Given the description of an element on the screen output the (x, y) to click on. 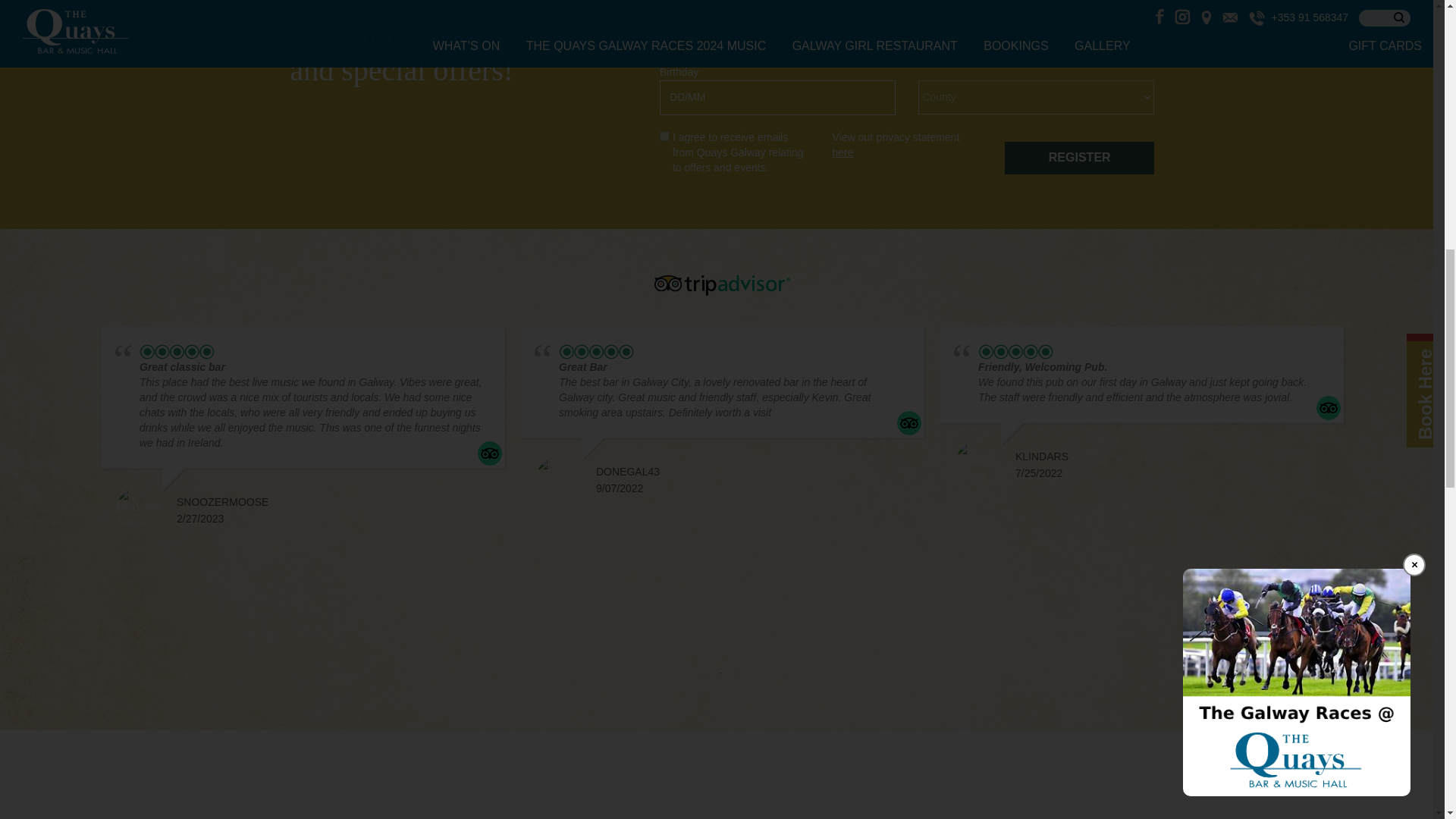
2 (735, 672)
Register (1079, 157)
1 (720, 672)
here (842, 152)
Register (1079, 157)
Next (1368, 495)
Previous (75, 495)
1 (664, 135)
